Given the description of an element on the screen output the (x, y) to click on. 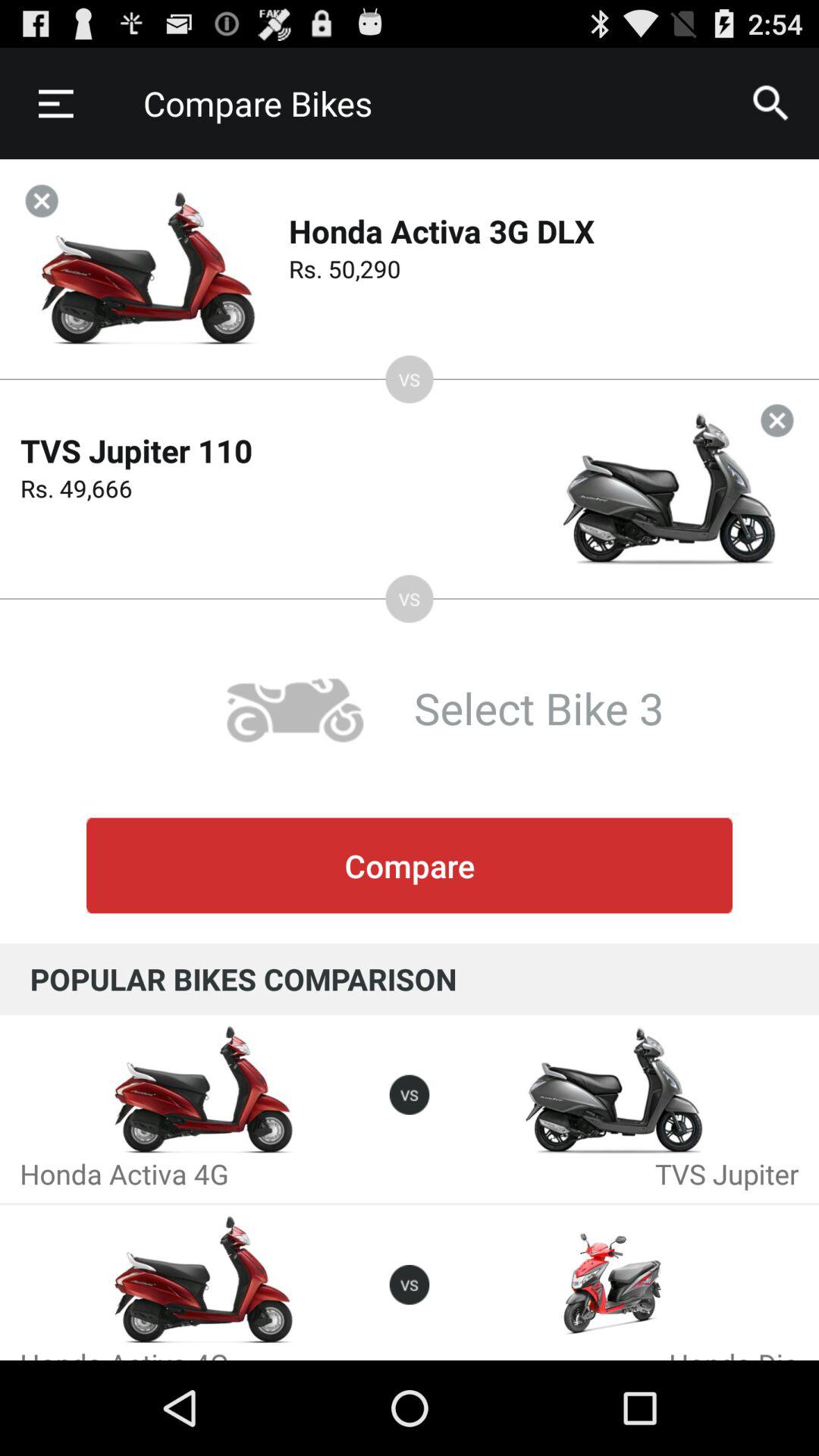
close page (777, 420)
